Given the description of an element on the screen output the (x, y) to click on. 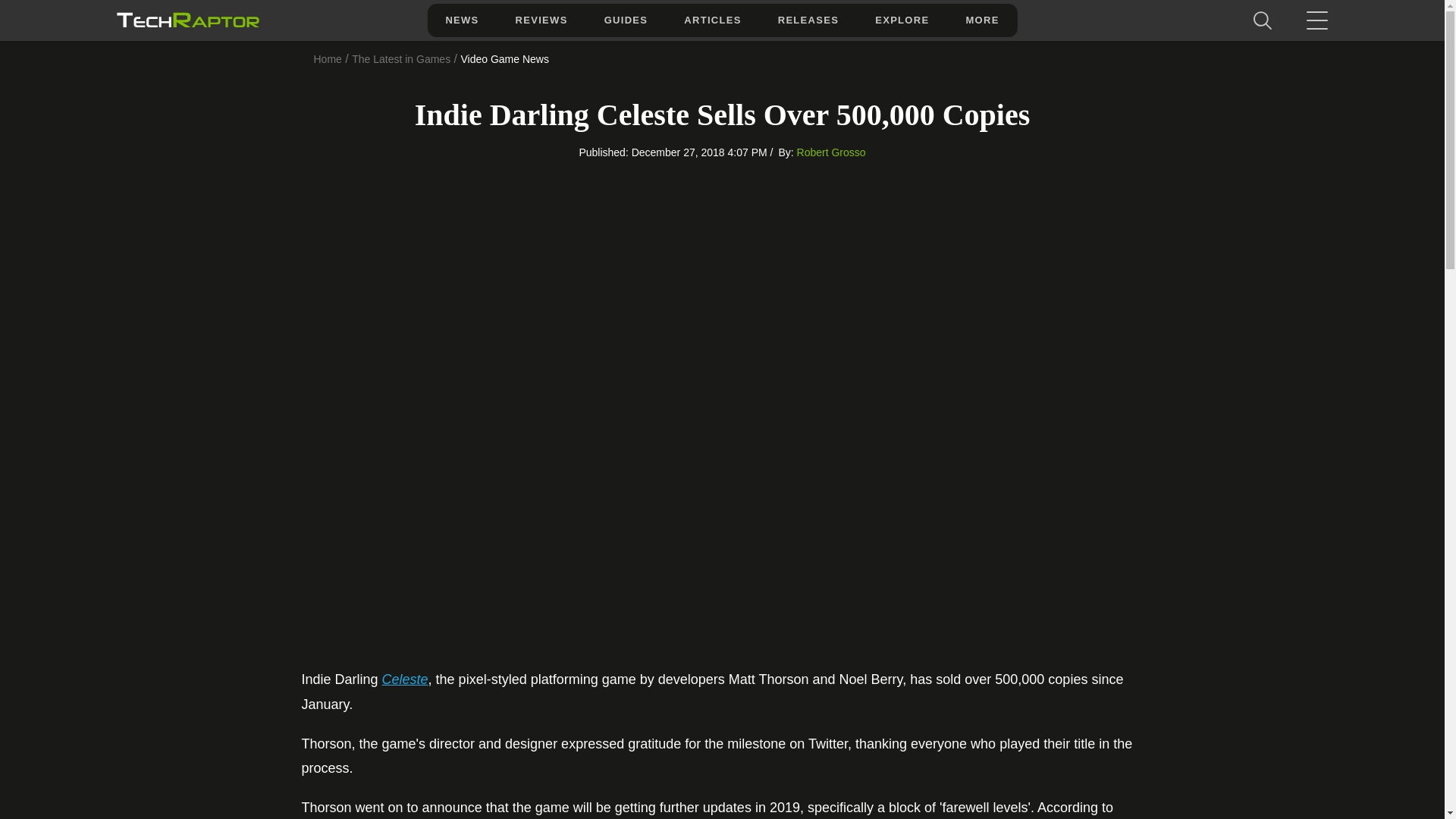
NEWS (461, 20)
ARTICLES (711, 20)
TechRaptor Home (187, 20)
GUIDES (626, 20)
REVIEWS (541, 20)
RELEASES (807, 20)
